Given the description of an element on the screen output the (x, y) to click on. 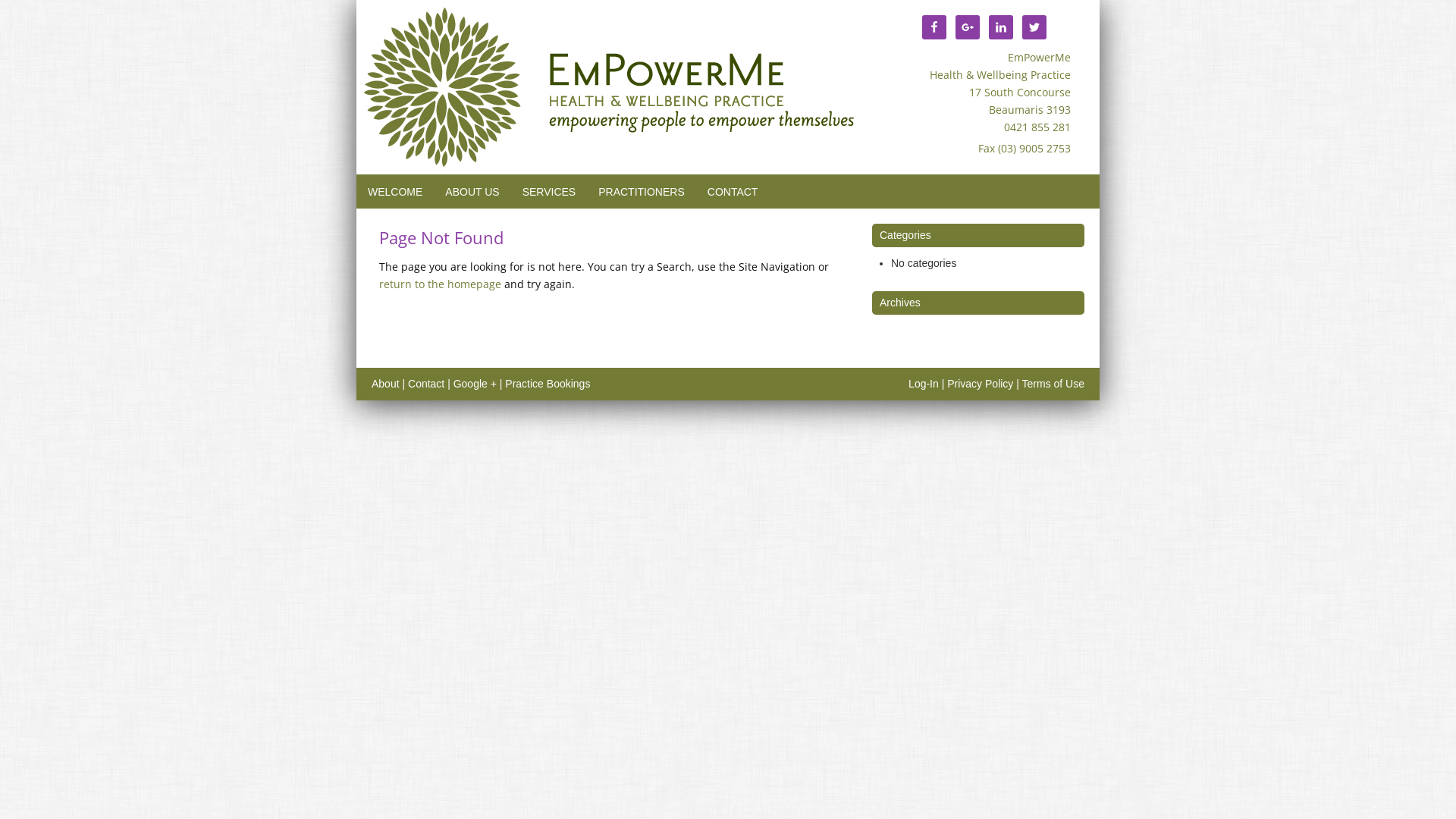
EmPowerMe Element type: text (610, 90)
Log-In Element type: text (923, 383)
WELCOME Element type: text (394, 191)
ABOUT US Element type: text (471, 191)
Terms of Use Element type: text (1053, 383)
Contact Element type: text (425, 383)
Practice Bookings Element type: text (547, 383)
CONTACT Element type: text (732, 191)
return to the homepage Element type: text (440, 283)
Google + Element type: text (474, 383)
PRACTITIONERS Element type: text (641, 191)
About Element type: text (385, 383)
SERVICES Element type: text (549, 191)
Privacy Policy Element type: text (980, 383)
